Given the description of an element on the screen output the (x, y) to click on. 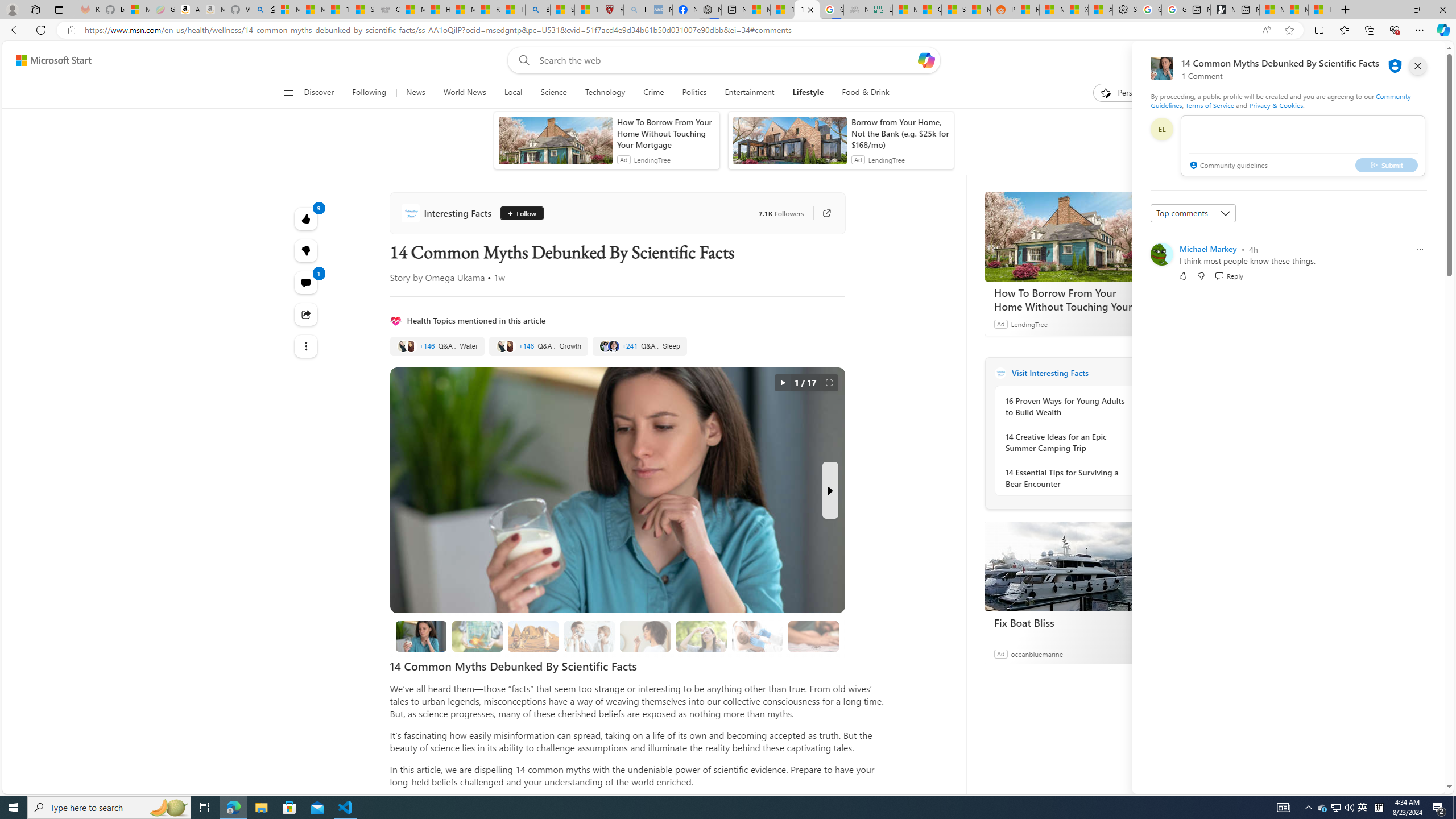
Interesting Facts (448, 212)
Report comment (1419, 249)
Food & Drink (865, 92)
1. Disposable Razors (589, 636)
Reply Reply Comment (1228, 275)
comment-box (1302, 145)
